Given the description of an element on the screen output the (x, y) to click on. 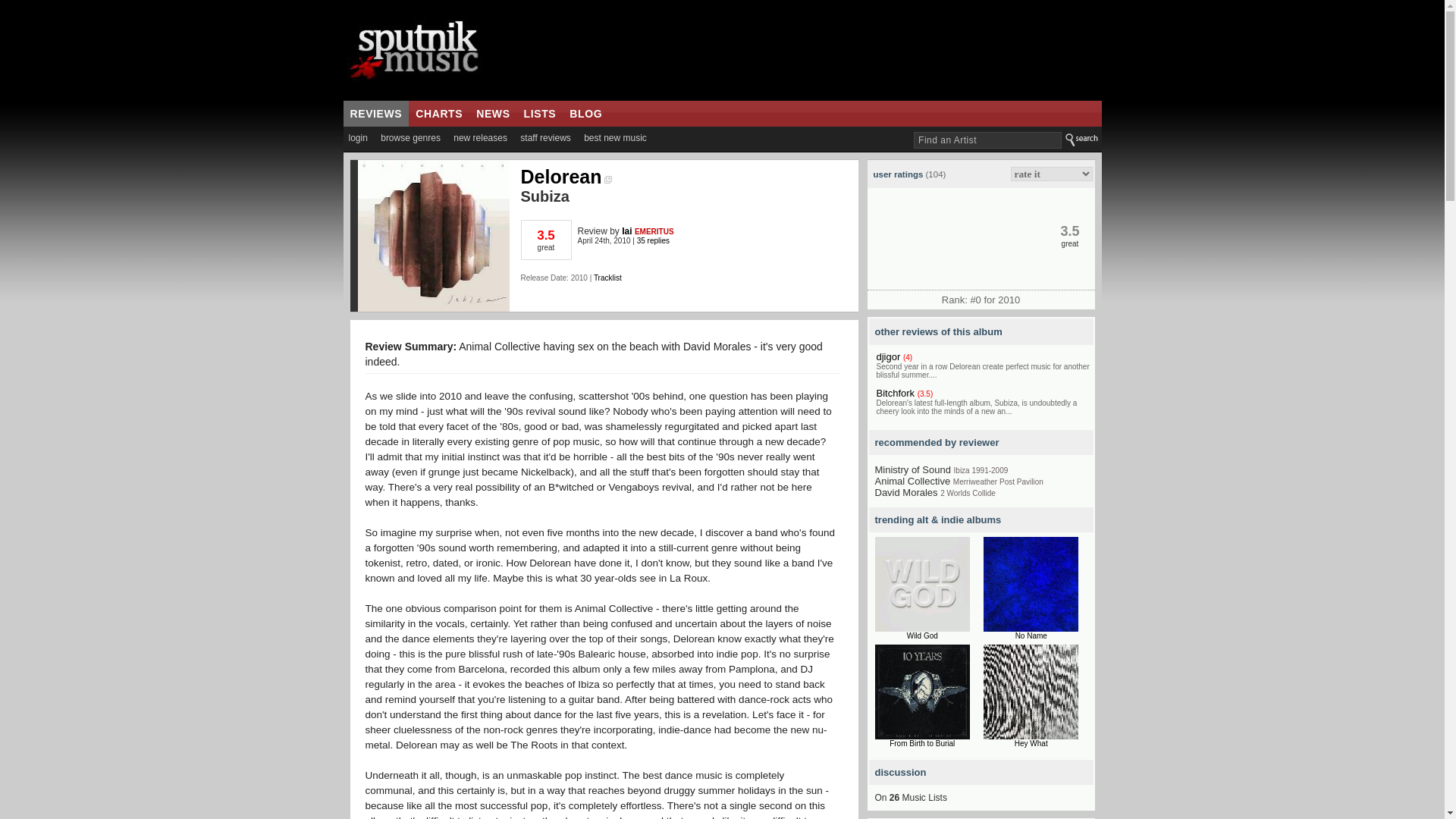
On 26 Music Lists (911, 797)
staff reviews (545, 137)
Hey What (1031, 743)
No Name (1030, 635)
Iai (626, 231)
login (357, 137)
From Birth to Burial (922, 743)
new releases (480, 137)
Find an Artist (987, 139)
Tracklist (607, 277)
